Given the description of an element on the screen output the (x, y) to click on. 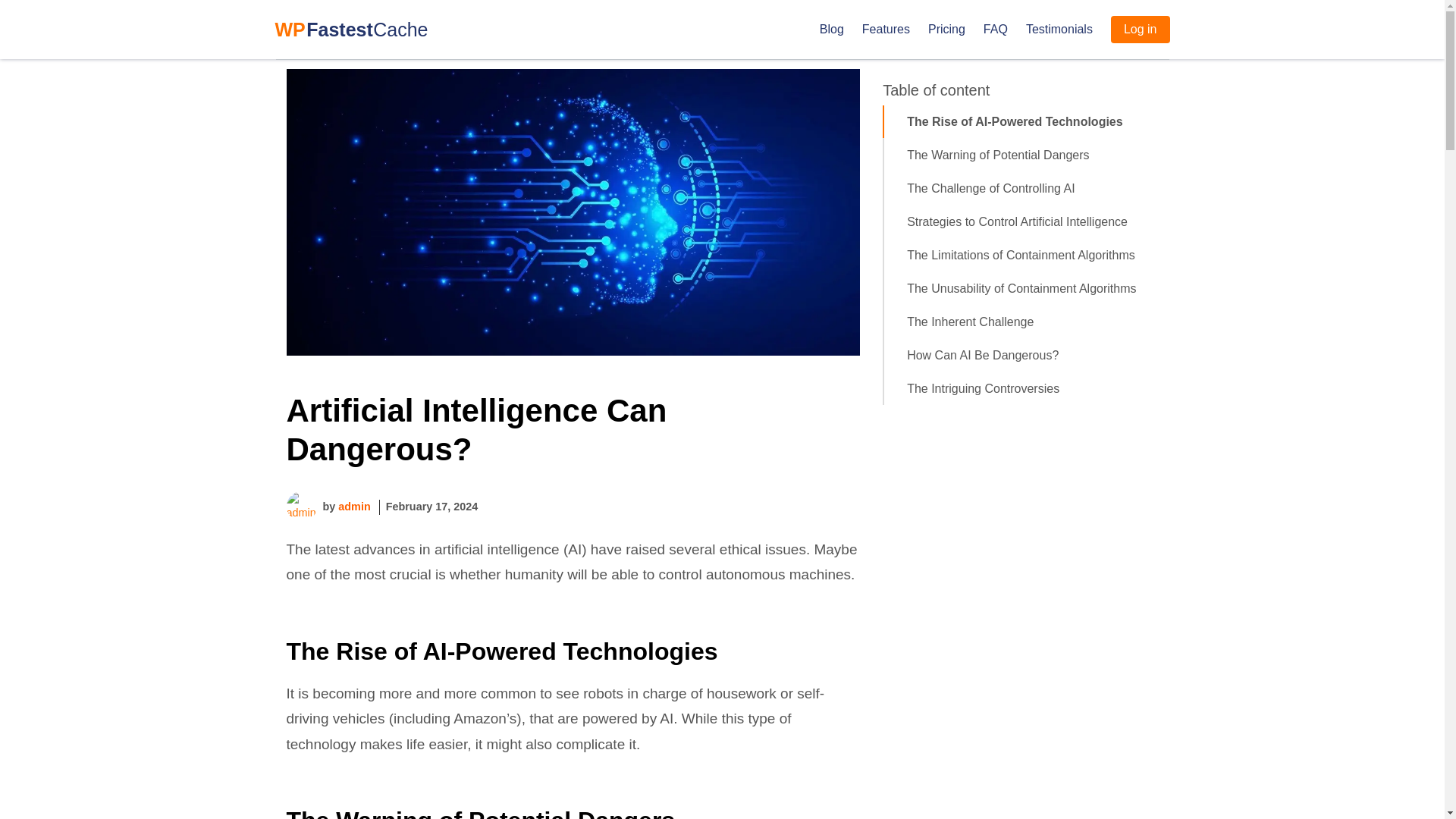
admin (353, 506)
The Inherent Challenge (1032, 322)
Testimonials (1059, 29)
How Can AI Be Dangerous? (1032, 355)
The Intriguing Controversies (1032, 388)
The Challenge of Controlling AI (1032, 188)
Features (885, 29)
Strategies to Control Artificial Intelligence (1032, 222)
FAQ (995, 29)
Pricing (946, 29)
Blog (831, 29)
Log in (1140, 29)
The Warning of Potential Dangers (1032, 154)
admin (301, 506)
admin (353, 506)
